Given the description of an element on the screen output the (x, y) to click on. 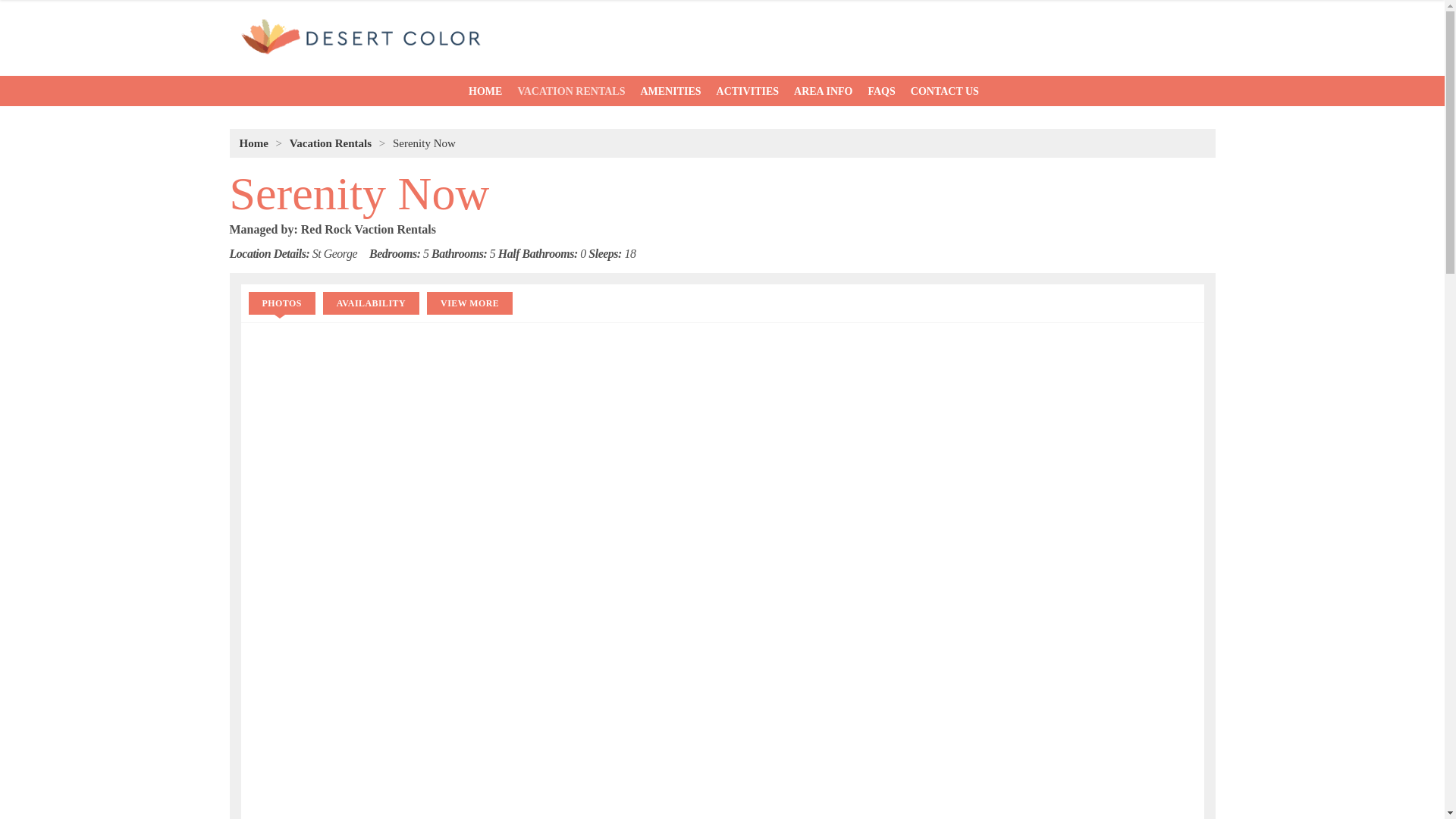
AREA INFO (823, 91)
FAQS (881, 91)
CONTACT US (944, 91)
ACTIVITIES (747, 91)
AMENITIES (669, 91)
HOME (485, 91)
VACATION RENTALS (570, 91)
